Given the description of an element on the screen output the (x, y) to click on. 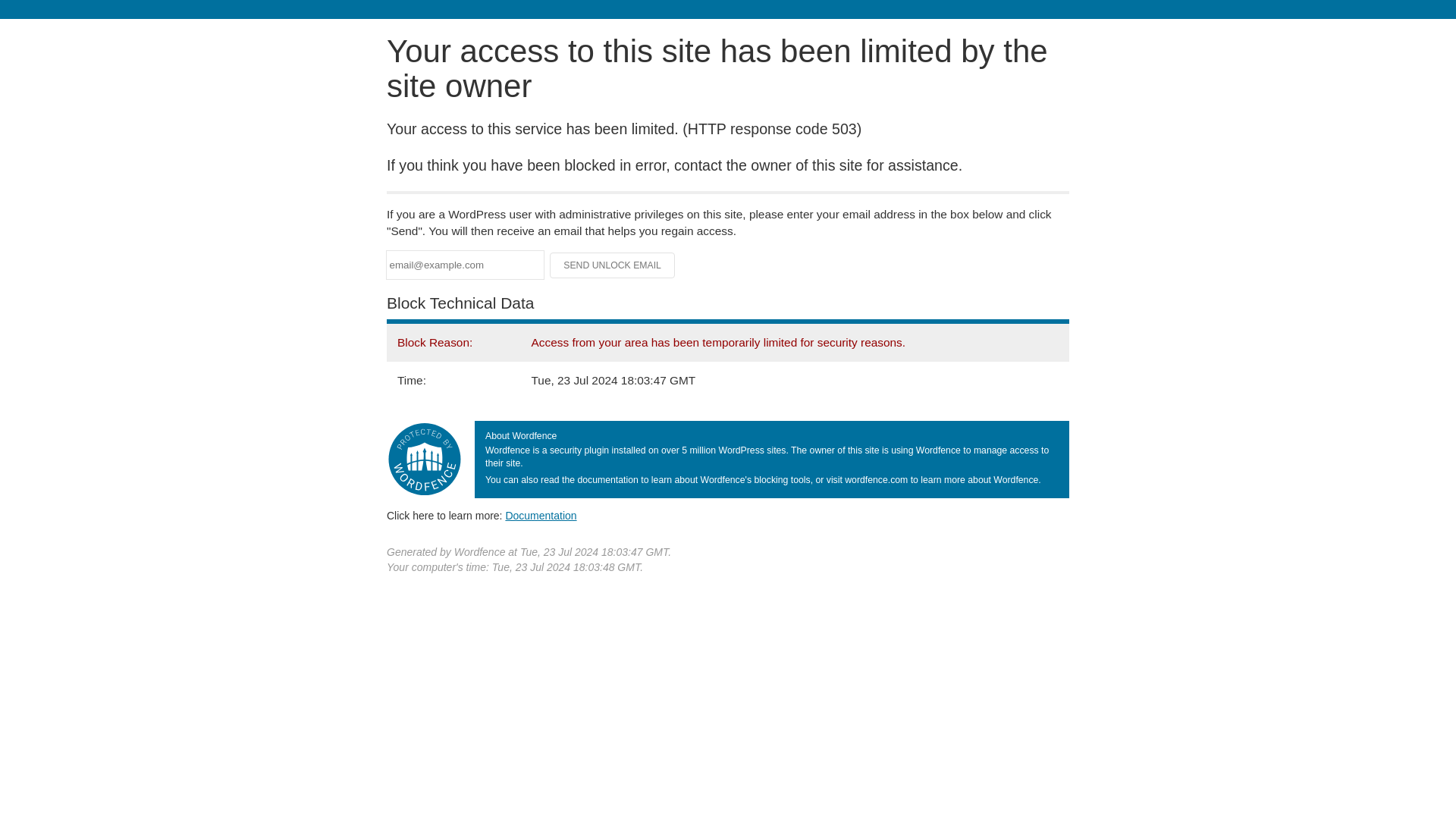
Documentation (540, 515)
Send Unlock Email (612, 265)
Send Unlock Email (612, 265)
